Given the description of an element on the screen output the (x, y) to click on. 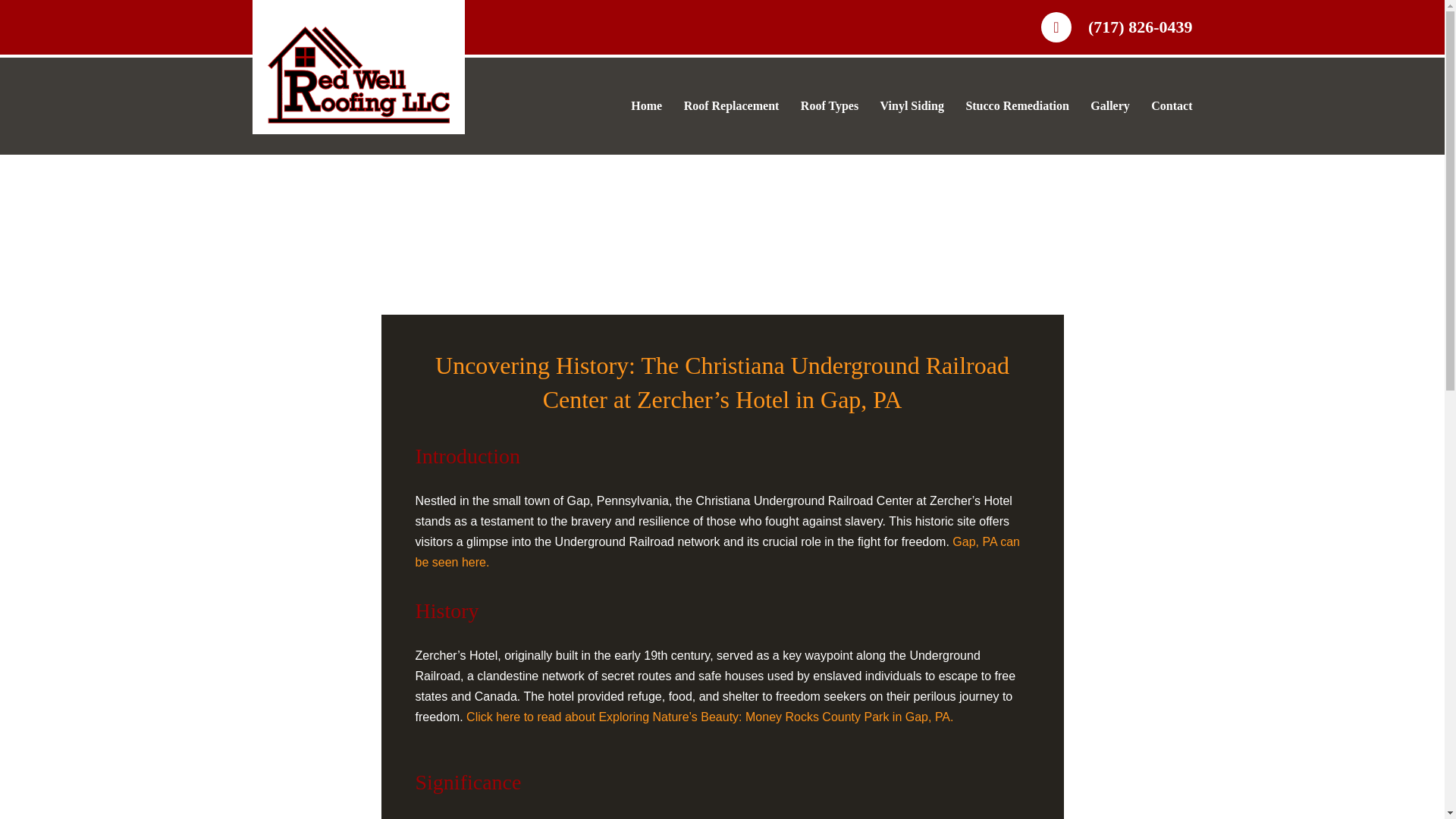
Roof Replacement (732, 105)
Gap, PA can be seen here.  (717, 551)
Stucco Remediation (1016, 105)
